Given the description of an element on the screen output the (x, y) to click on. 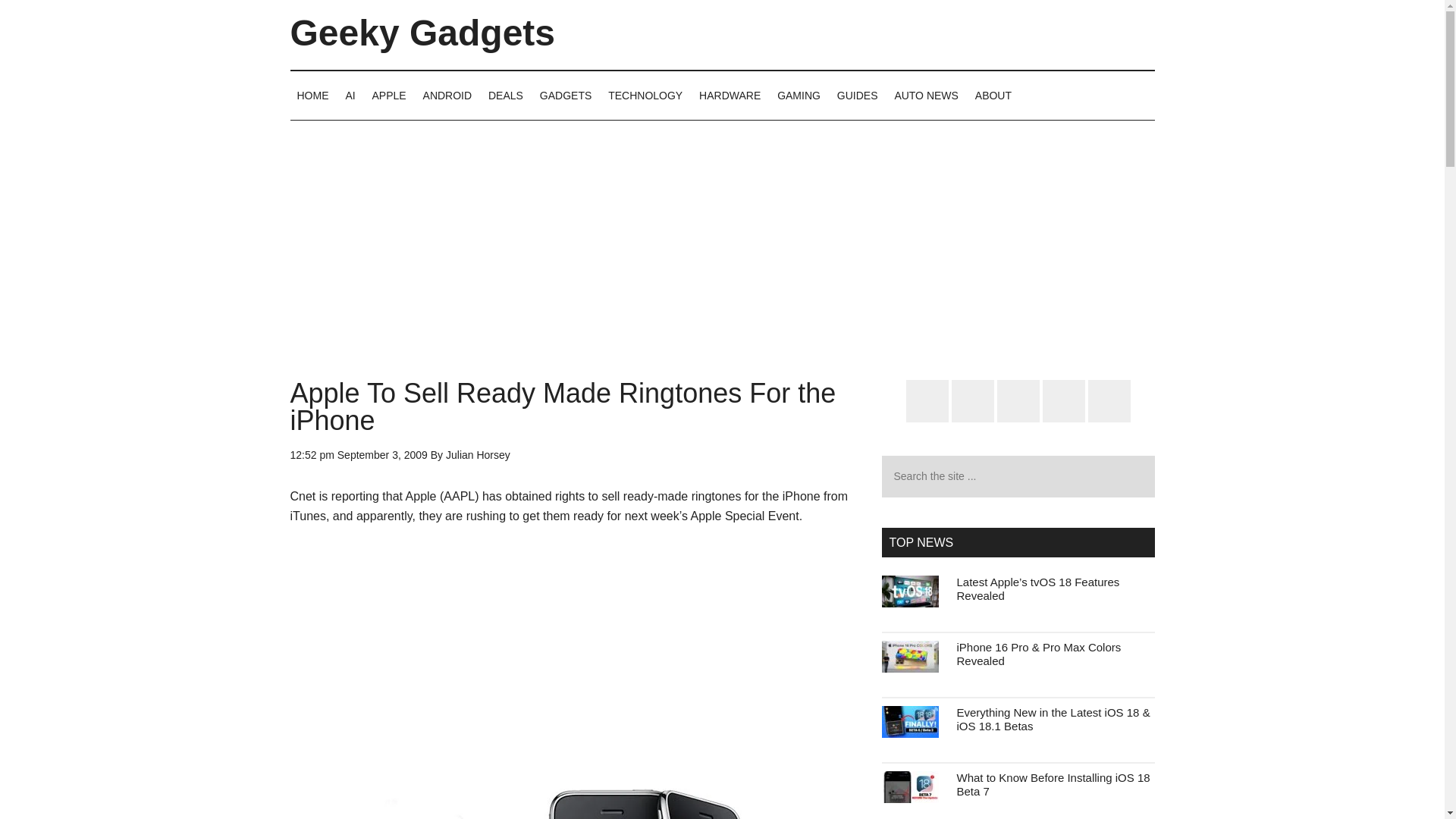
DEALS (505, 95)
GADGETS (565, 95)
APPLE (389, 95)
TECHNOLOGY (644, 95)
GAMING (798, 95)
HOME (311, 95)
ANDROID (447, 95)
GUIDES (857, 95)
